Given the description of an element on the screen output the (x, y) to click on. 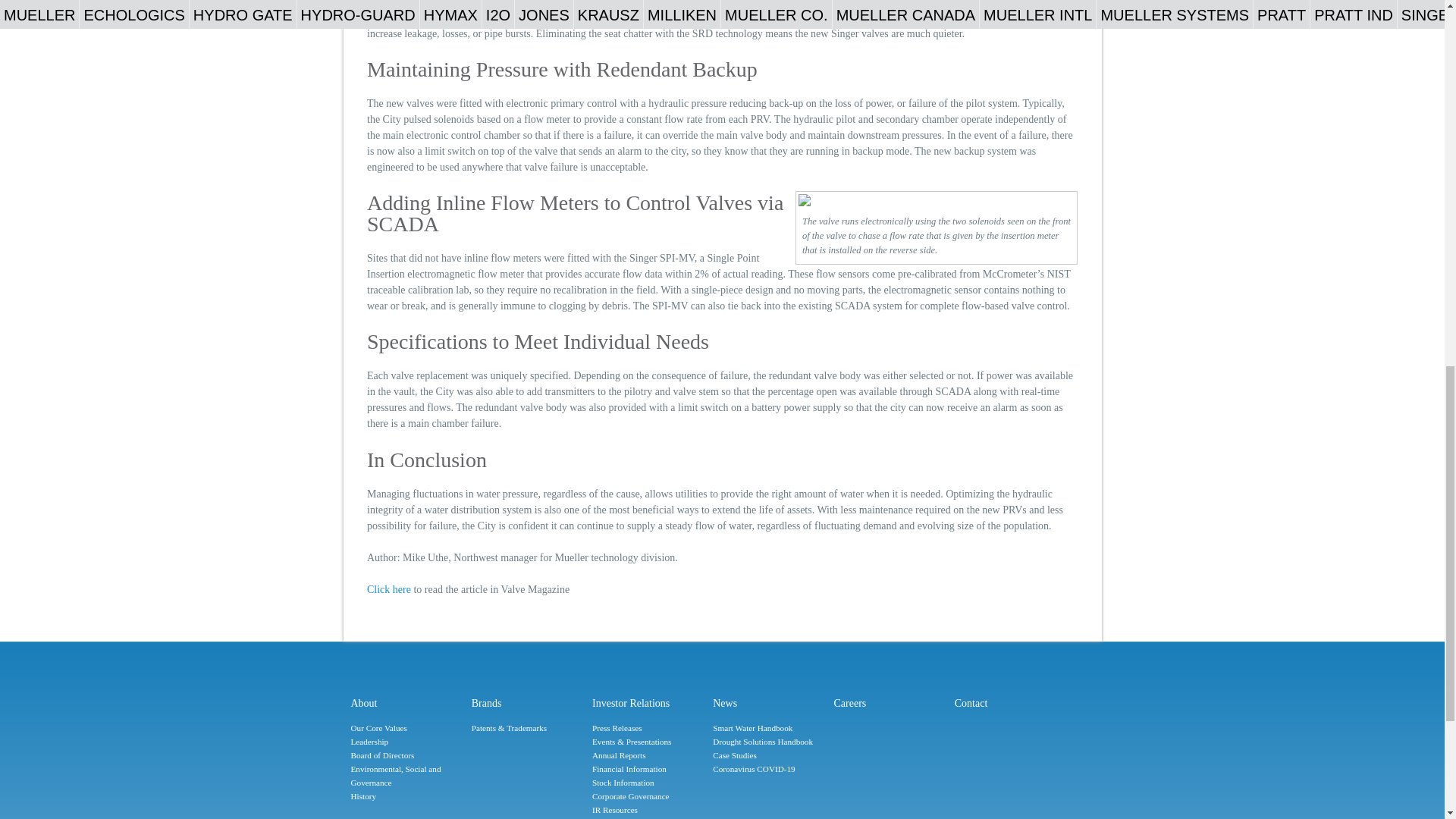
Leadership (405, 742)
Press Releases (647, 728)
About (405, 703)
Environmental, Social and Governance (405, 776)
Board of Directors (405, 755)
Brands (527, 703)
Our Core Values (405, 728)
History (405, 796)
Click here (388, 589)
Investor Relations (647, 703)
